Given the description of an element on the screen output the (x, y) to click on. 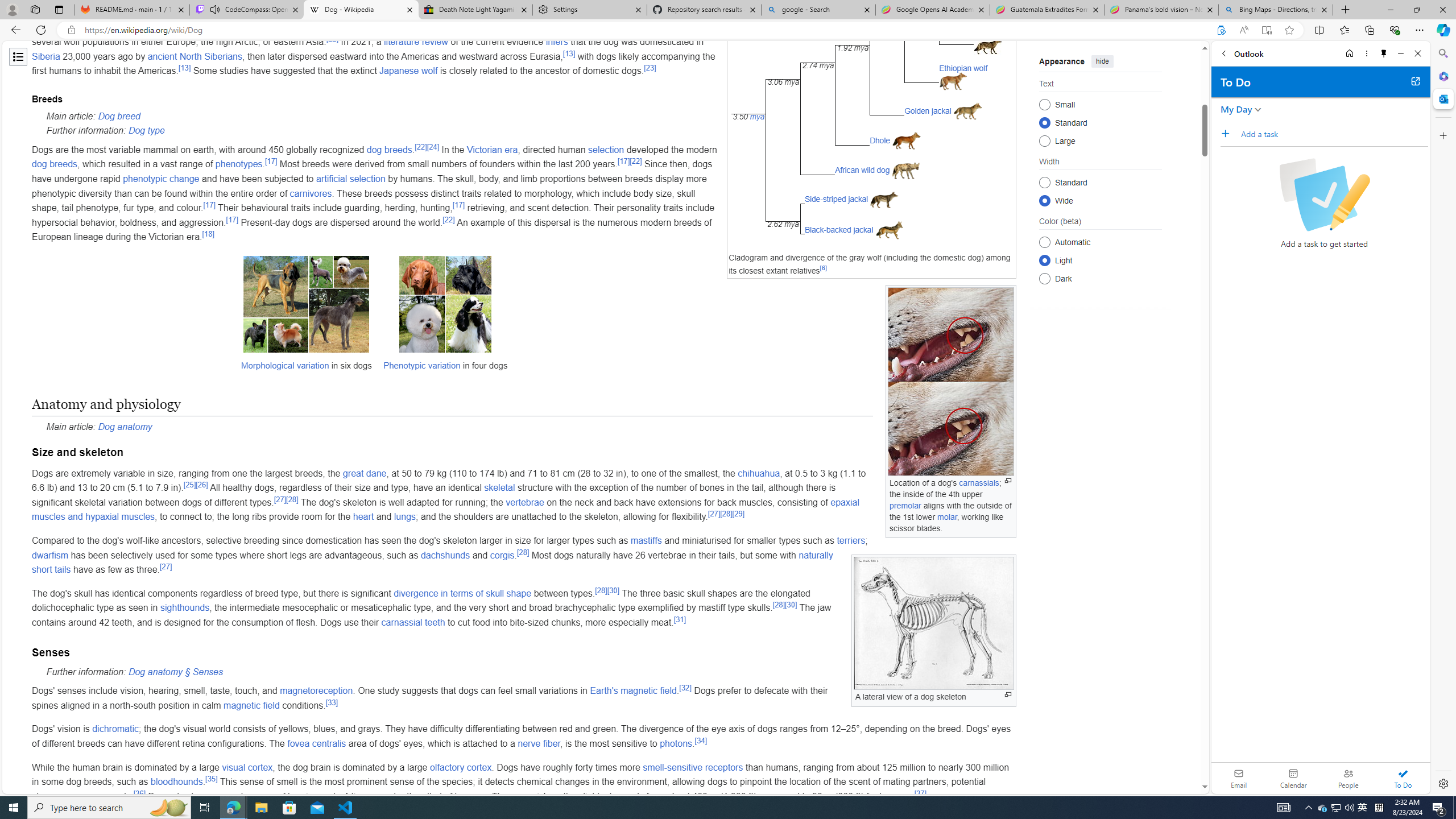
dwarfism (50, 555)
ancient North Siberians (195, 55)
Black-backed jackal (838, 229)
[32] (684, 687)
Siberia (45, 55)
magnetoreception (316, 691)
[13] (183, 67)
Open in new tab (1414, 80)
[35] (211, 777)
[34] (700, 740)
sighthounds (184, 607)
Wide (1044, 200)
People (1347, 777)
